Given the description of an element on the screen output the (x, y) to click on. 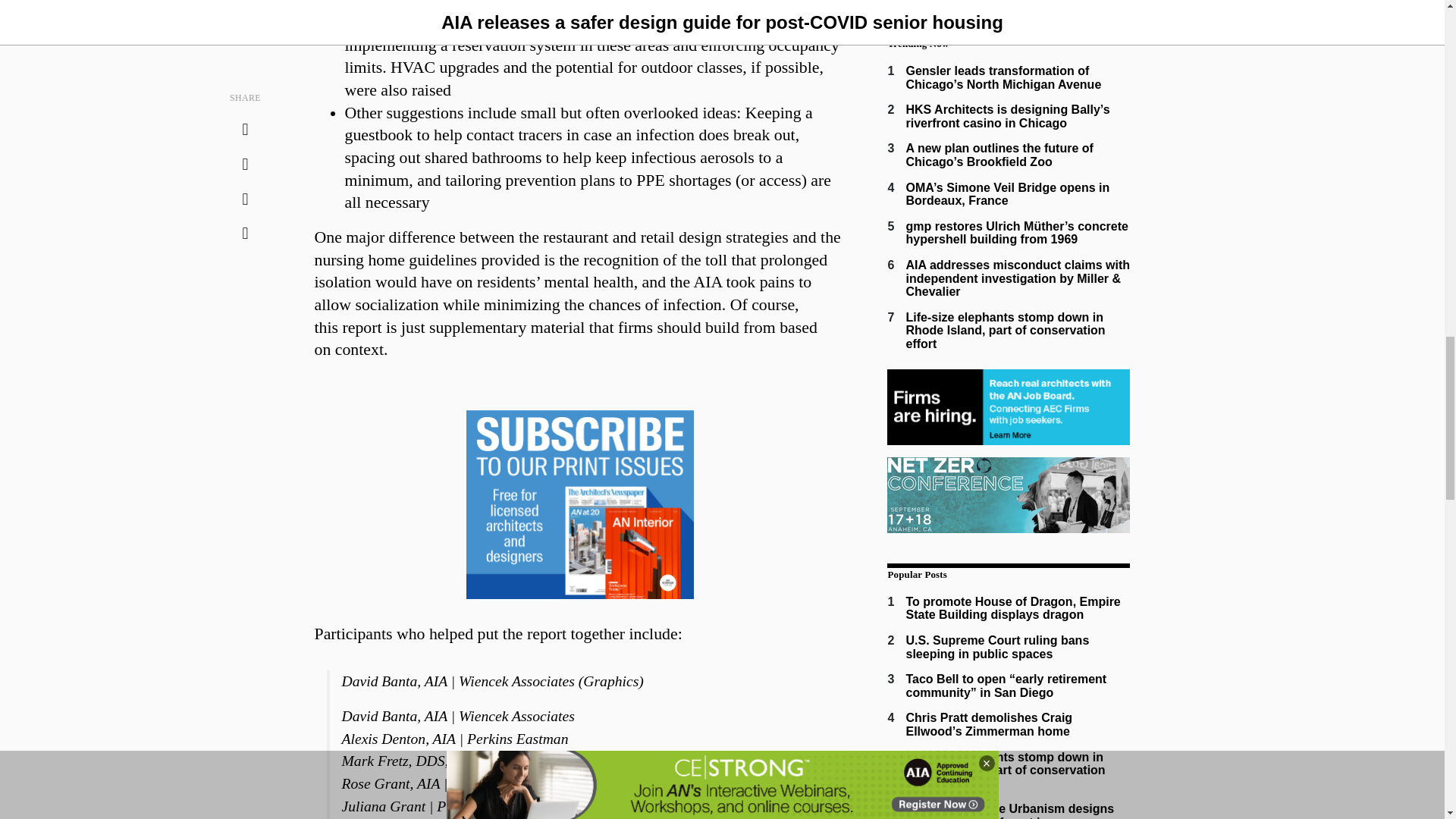
1,886 visitors in 24 hours (1002, 77)
272 visitors in 24 hours (1015, 233)
553 visitors in 24 hours (1007, 116)
216 visitors in 24 hours (1017, 278)
187 visitors in 24 hours (1005, 330)
6,114 visitors in the last month (997, 646)
410 visitors in 24 hours (1007, 194)
538 visitors in 24 hours (999, 154)
32,684 visitors in the last month (1012, 608)
